Given the description of an element on the screen output the (x, y) to click on. 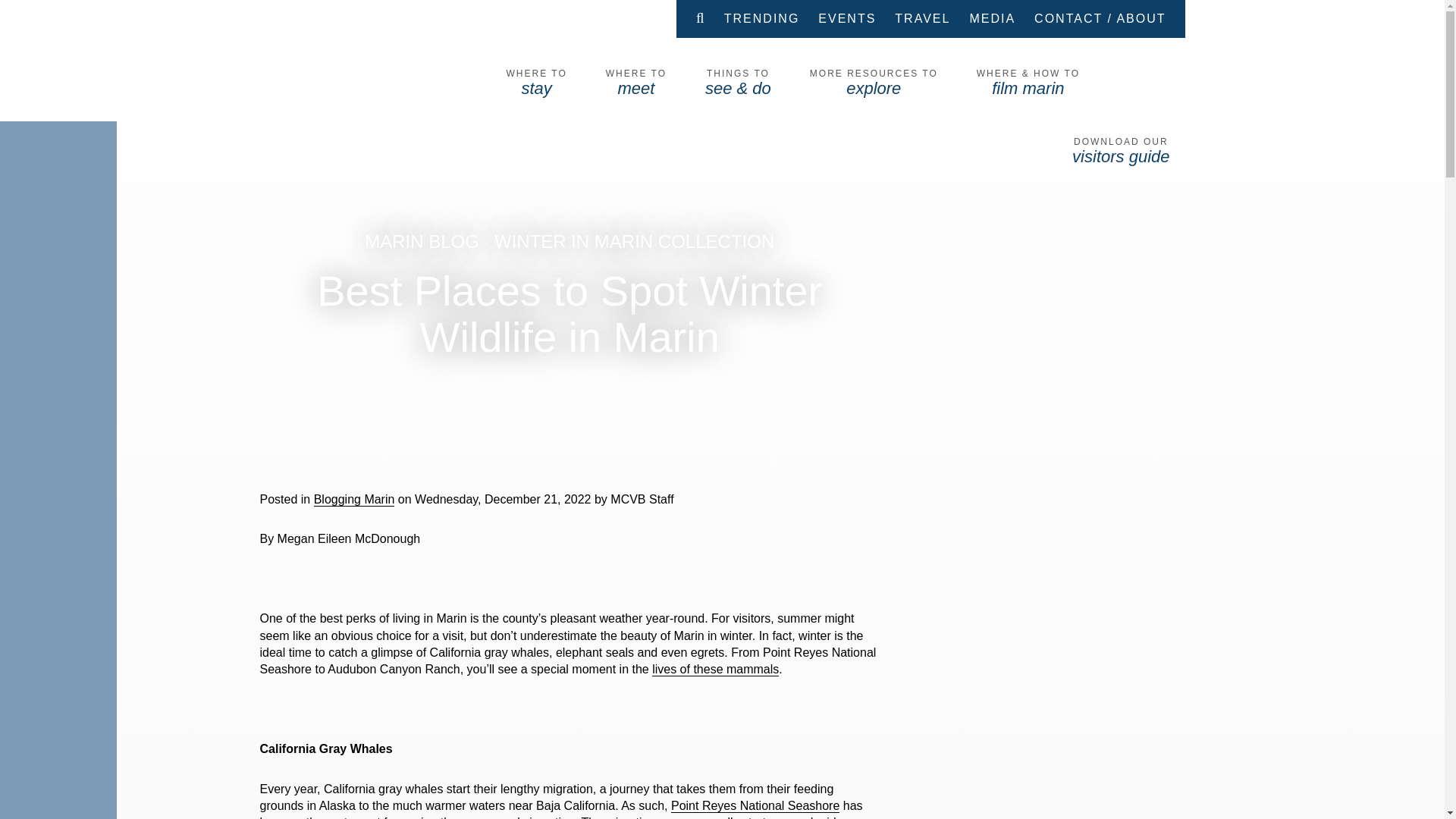
MEDIA (991, 18)
TRENDING (761, 18)
EVENTS (847, 18)
Visit Marin County, California (348, 82)
TRAVEL (922, 18)
